Given the description of an element on the screen output the (x, y) to click on. 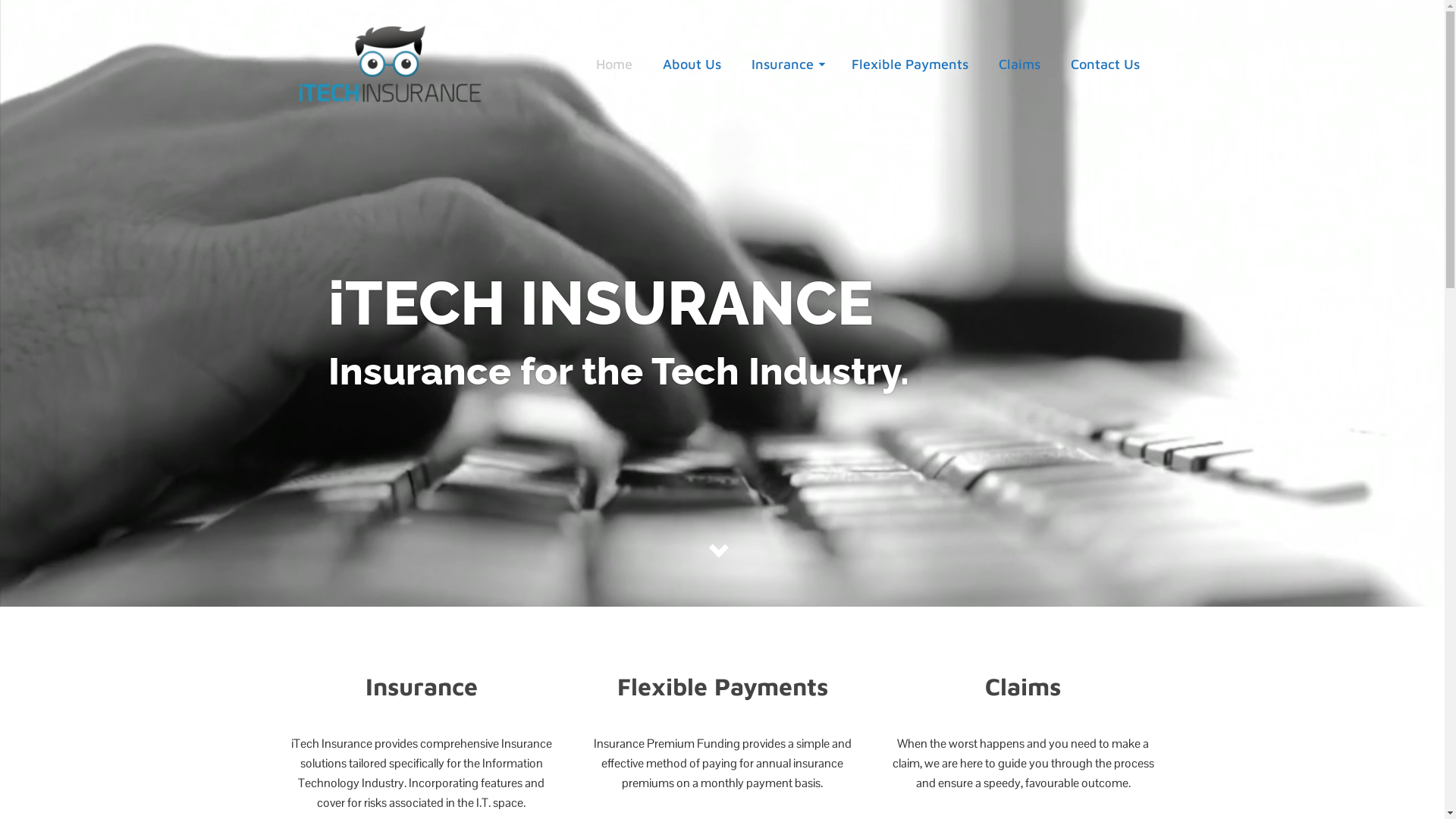
Claims Element type: text (1018, 64)
Contact Us Element type: text (1104, 64)
About Us Element type: text (691, 64)
Flexible Payments Element type: text (908, 64)
Insurance Element type: text (785, 64)
Home Element type: text (613, 64)
